Given the description of an element on the screen output the (x, y) to click on. 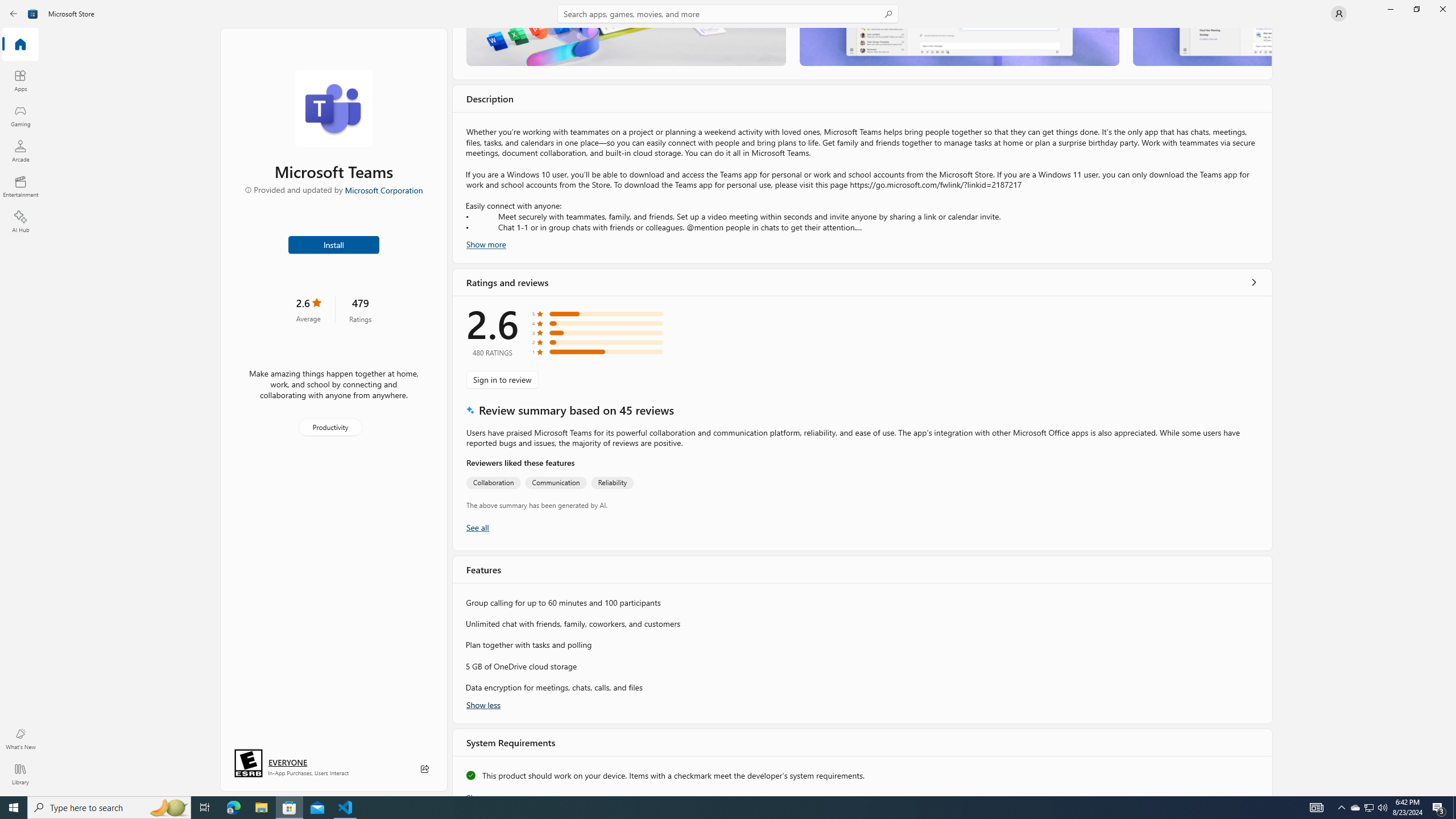
2.6 stars. Click to skip to ratings and reviews (307, 309)
Entertainment (20, 185)
Back (13, 13)
Search (727, 13)
Age rating: EVERYONE. Click for more information. (287, 762)
AutomationID: NavigationControl (728, 398)
Productivity (329, 426)
Show all ratings and reviews (477, 527)
Minimize Microsoft Store (1390, 9)
Arcade (20, 150)
Install (334, 244)
Show all ratings and reviews (1253, 281)
AI Hub (20, 221)
What's New (20, 738)
